Given the description of an element on the screen output the (x, y) to click on. 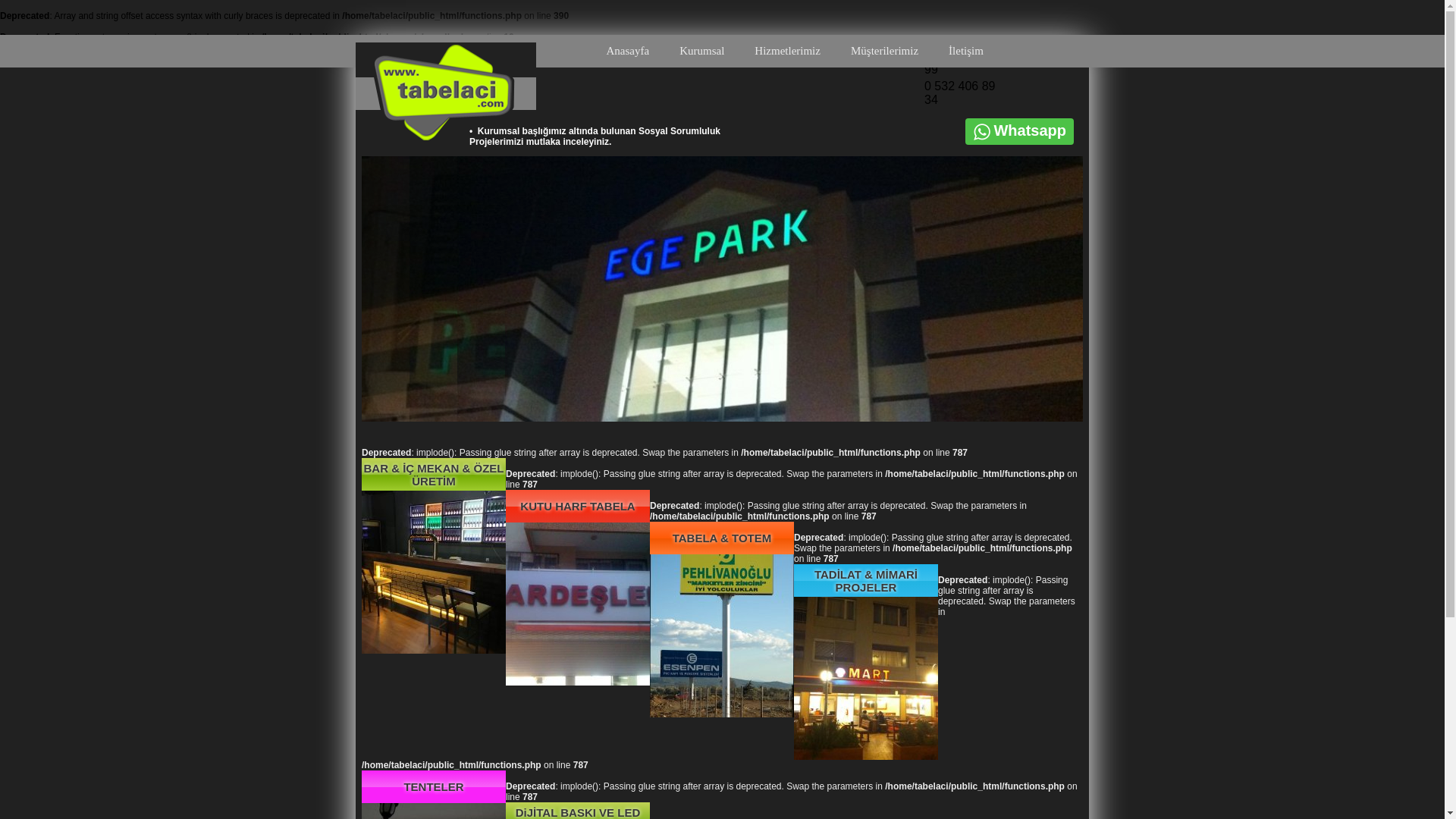
Kurumsal Element type: text (701, 50)
Anasayfa Element type: text (628, 50)
kutu harf tabela Element type: hover (577, 682)
tabela & totem Element type: hover (721, 714)
Hizmetlerimiz Element type: text (787, 50)
tadilat & mimari projeler Element type: hover (865, 756)
Whatsapp Element type: text (1029, 130)
Whatsapp Element type: text (1019, 131)
